Given the description of an element on the screen output the (x, y) to click on. 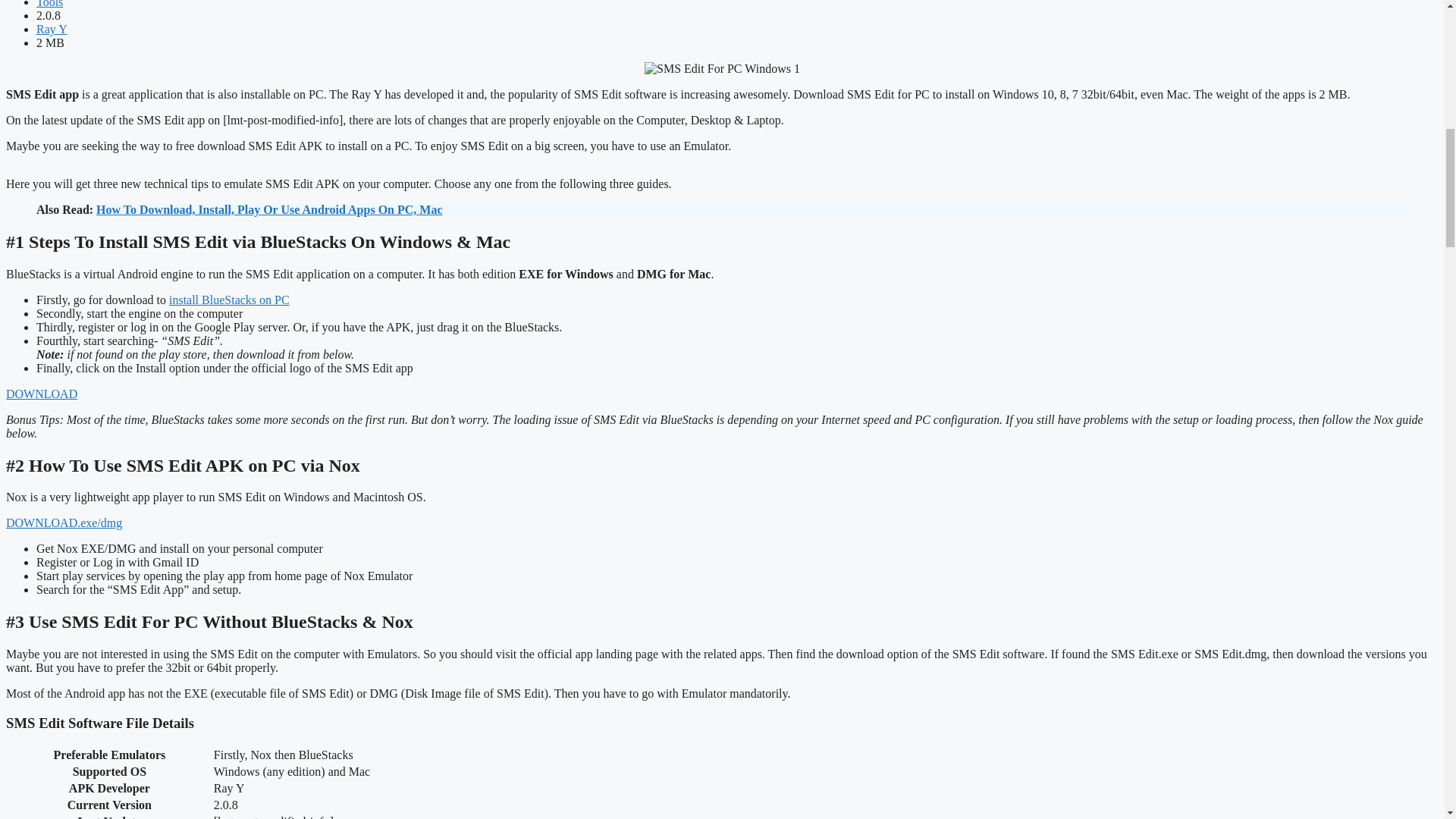
install BlueStacks on PC (228, 299)
Tools (49, 4)
Ray Y (51, 29)
DOWNLOAD (41, 393)
